Given the description of an element on the screen output the (x, y) to click on. 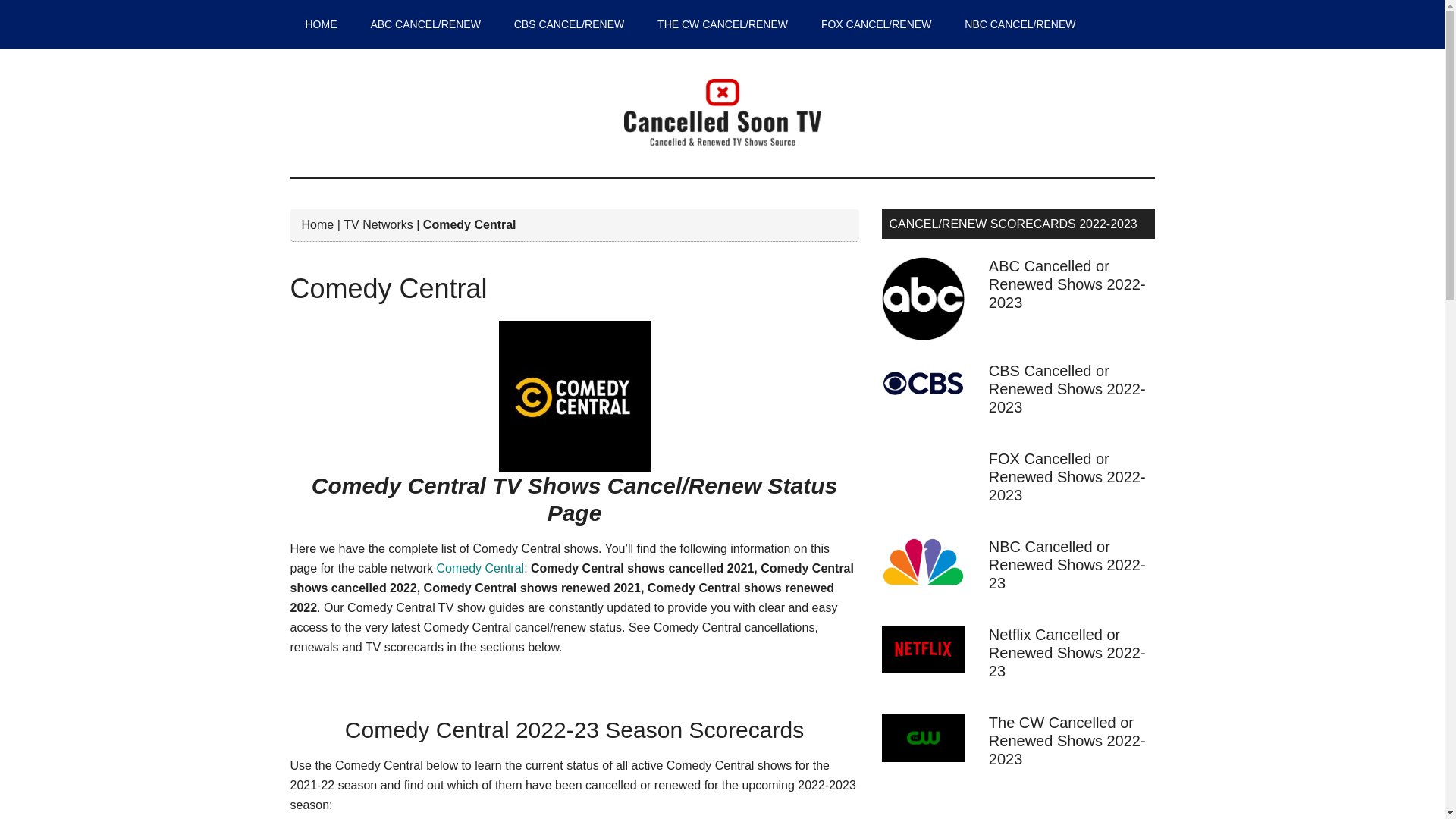
HOME (320, 24)
FOX Cancelled or Renewed Shows 2022-2023 (1066, 476)
Home (317, 224)
CBS Cancelled or Renewed Shows 2022-2023 (1066, 388)
The CW Cancelled or Renewed Shows 2022-2023 (1066, 740)
Netflix Cancelled or Renewed Shows 2022-23 (1066, 652)
TV Networks (378, 224)
NBC Cancelled or Renewed Shows 2022-23 (1066, 564)
Comedy Central (480, 567)
ABC Cancelled or Renewed Shows 2022-2023 (1066, 284)
